Given the description of an element on the screen output the (x, y) to click on. 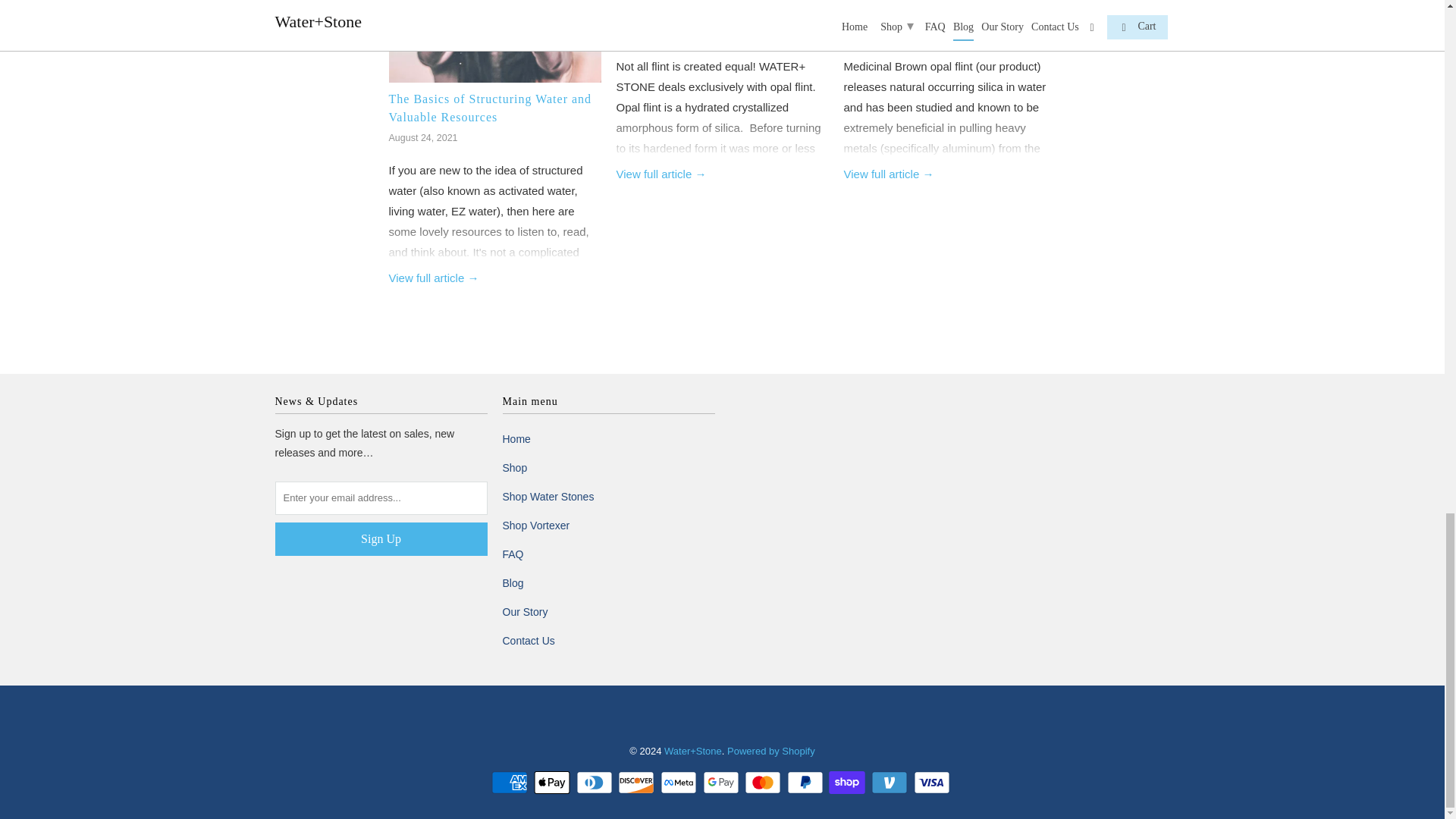
Diners Club (595, 782)
FAQ (512, 553)
The Basics of Structuring Water and Valuable Resources (489, 107)
Silica-Rich Water Beneficial for Aluminum Detox (888, 173)
Mastercard (764, 782)
Shop (514, 467)
Meta Pay (680, 782)
Home (515, 439)
Sign Up (380, 539)
Shop Water Stones (548, 496)
Venmo (890, 782)
Discover (637, 782)
Silica-Rich Water Beneficial for Aluminum Detox (933, 9)
Silica-Rich Water Beneficial for Aluminum Detox (933, 9)
Visa (933, 782)
